Given the description of an element on the screen output the (x, y) to click on. 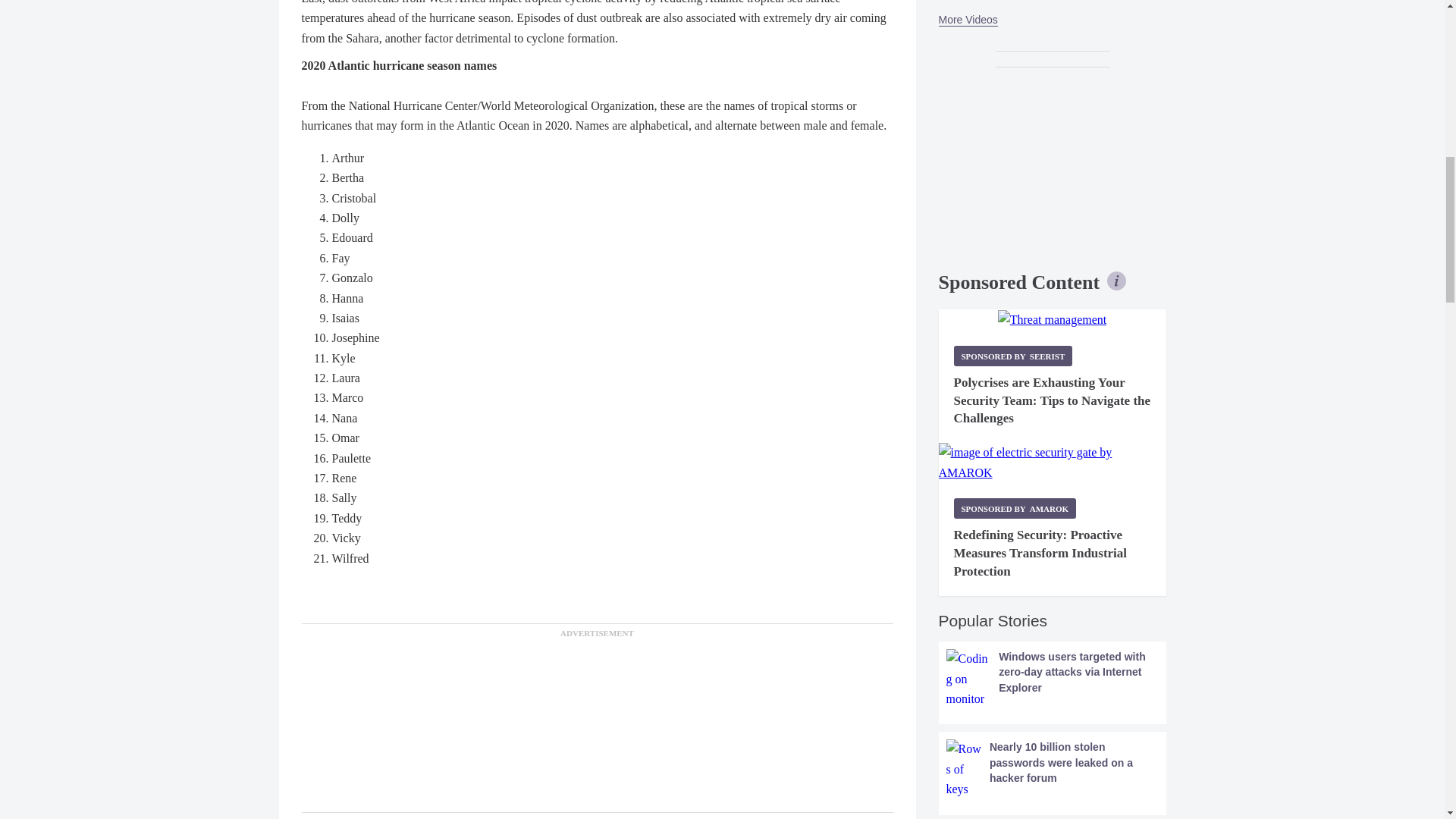
Sponsored by AMAROK (1015, 507)
AMAROK Security Gate (1052, 463)
Sponsored by Seerist (1013, 355)
Threat management (1051, 320)
